Given the description of an element on the screen output the (x, y) to click on. 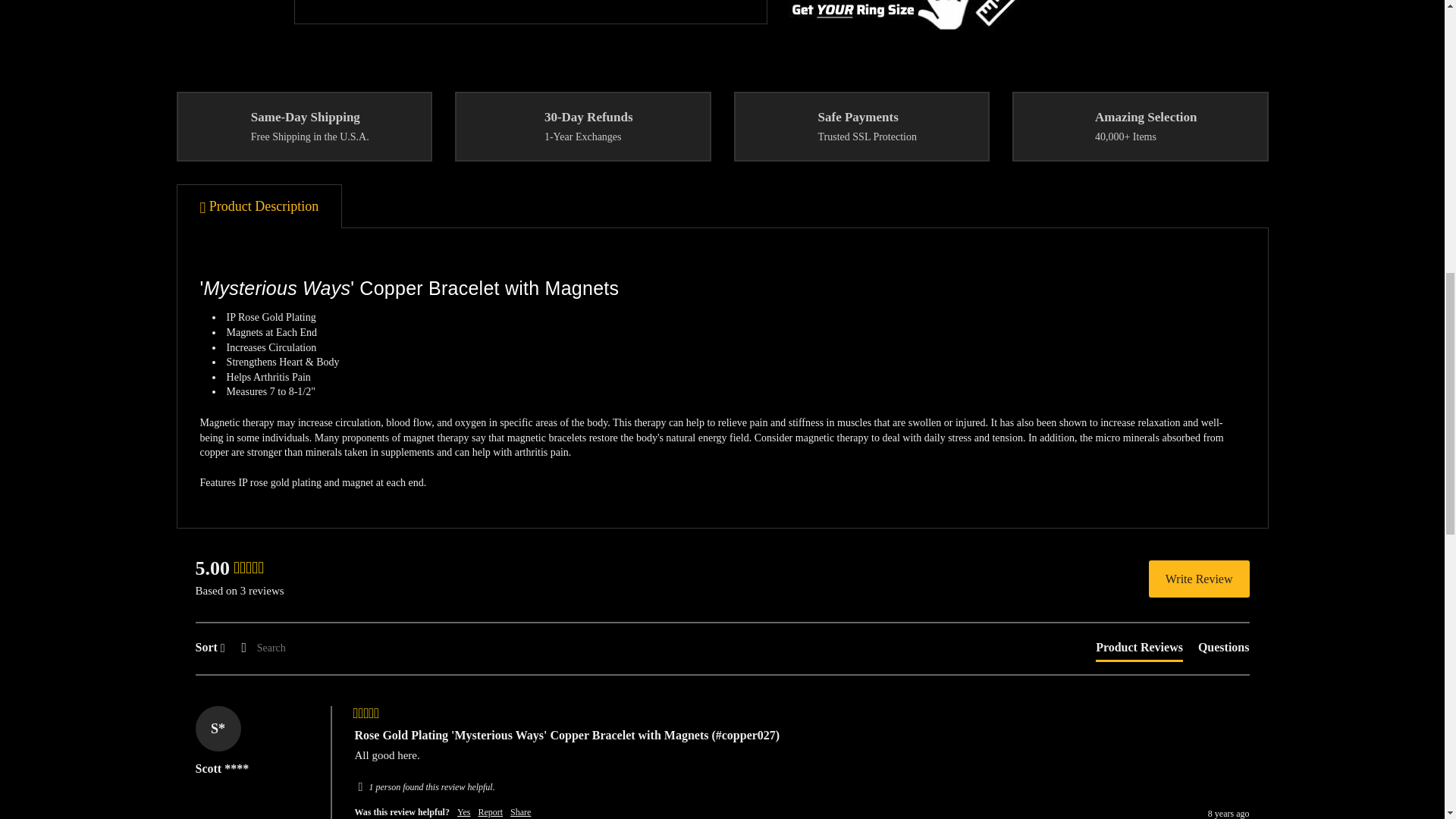
5.00 Stars (247, 568)
Search (292, 648)
5 Stars (366, 713)
